Given the description of an element on the screen output the (x, y) to click on. 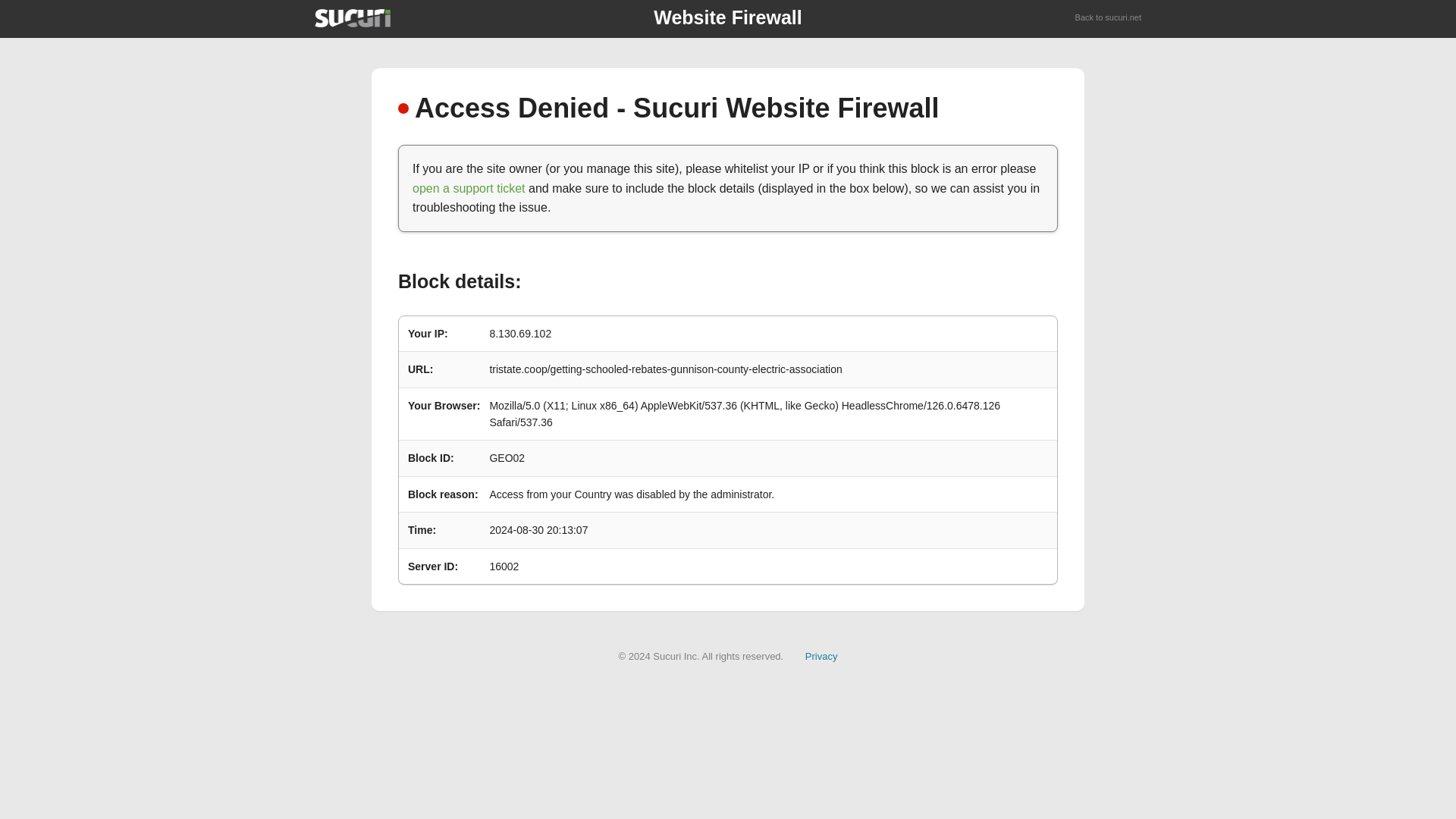
open a support ticket (468, 187)
Privacy (821, 655)
Back to sucuri.net (1108, 18)
